Given the description of an element on the screen output the (x, y) to click on. 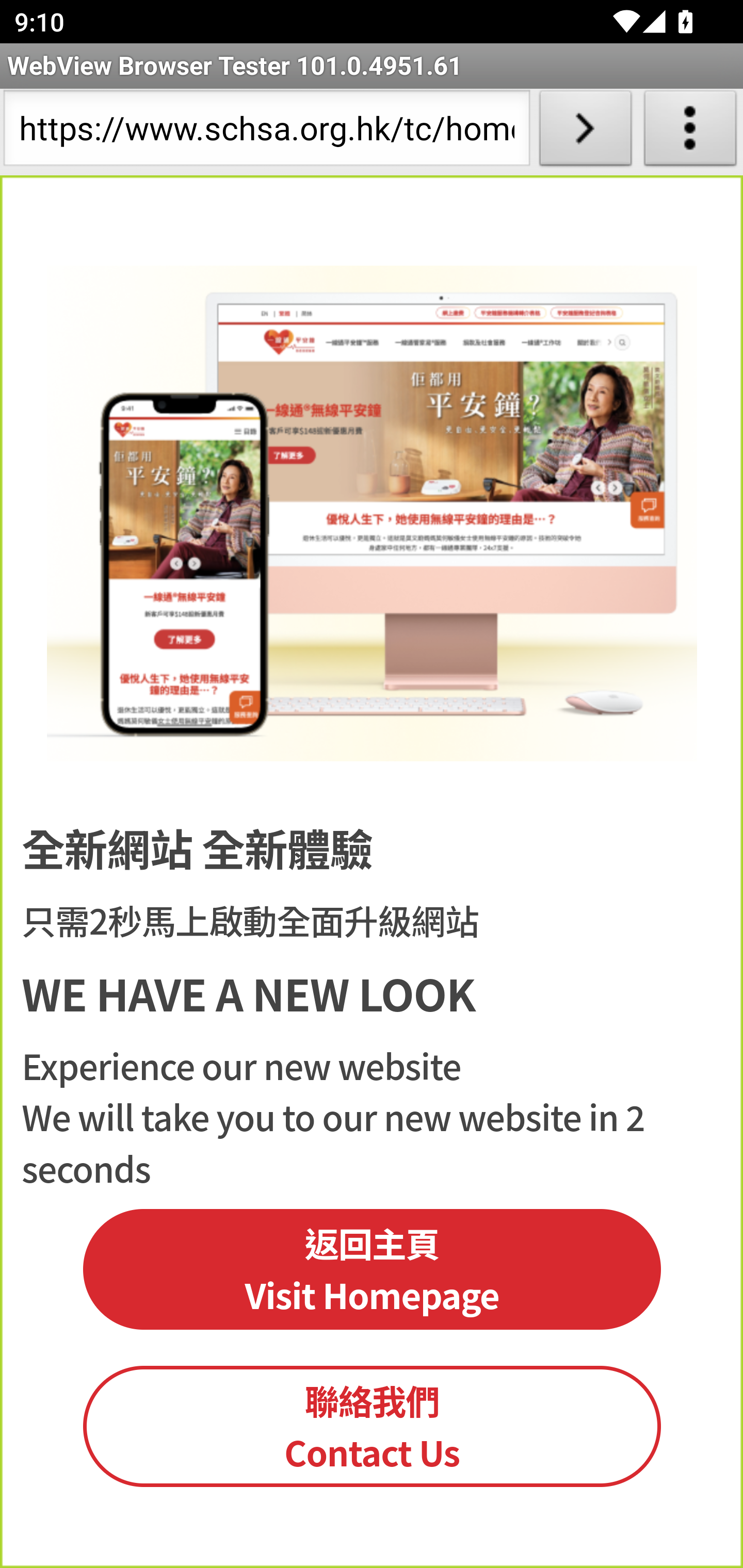
https://www.schsa.org.hk/tc/homepageChelsea (266, 132)
Load URL (585, 132)
About WebView (690, 132)
返回主頁 Visit Homepage 返回主頁 Visit Homepage (372, 1269)
聯絡我們 Contact Us 聯絡我們 Contact Us (372, 1426)
